Given the description of an element on the screen output the (x, y) to click on. 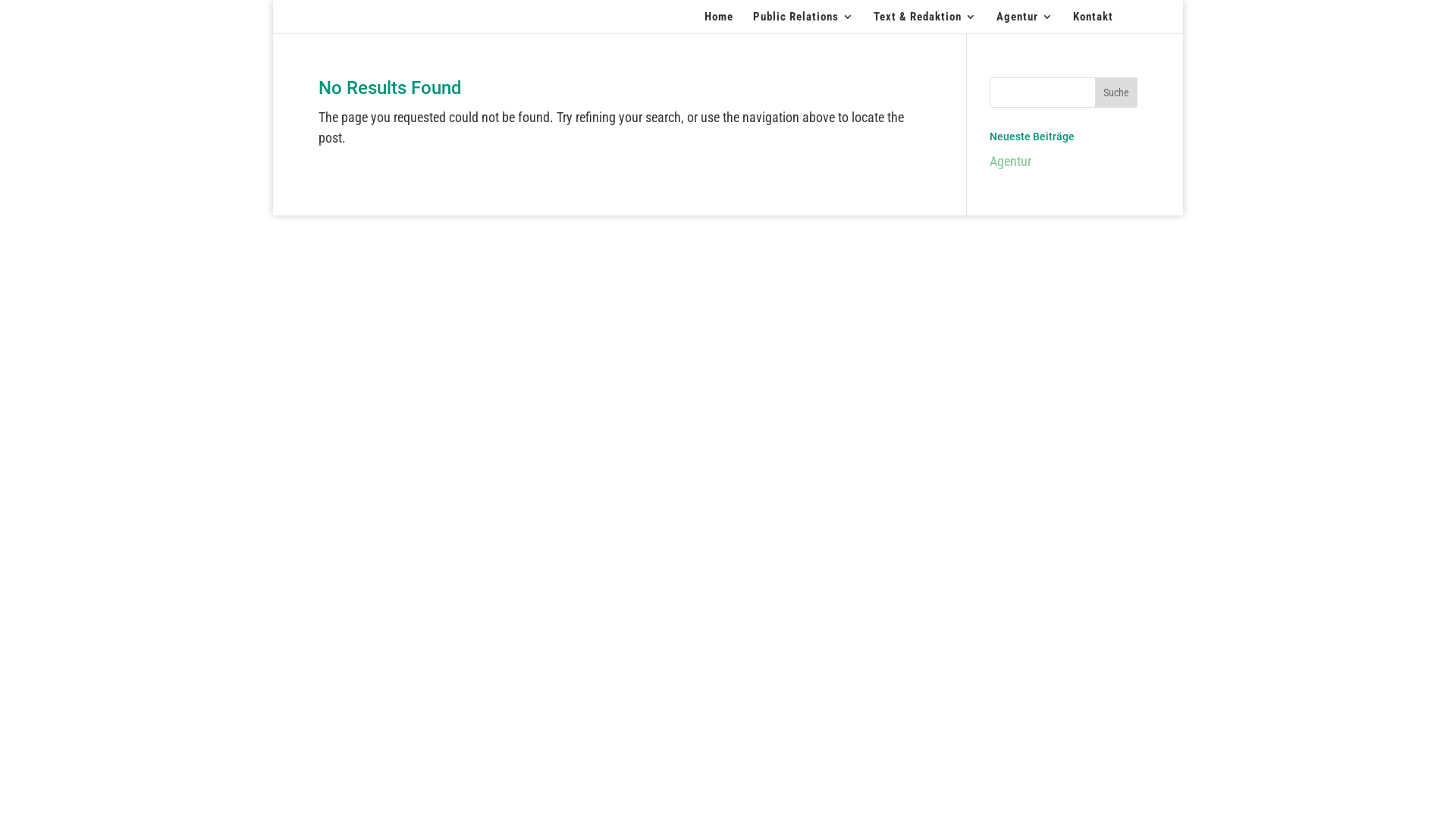
Agentur Element type: text (1024, 22)
Kontakt Element type: text (1093, 22)
Suche Element type: text (1116, 92)
Text & Redaktion Element type: text (924, 22)
Agentur Element type: text (1010, 161)
Home Element type: text (718, 22)
Public Relations Element type: text (803, 22)
